Given the description of an element on the screen output the (x, y) to click on. 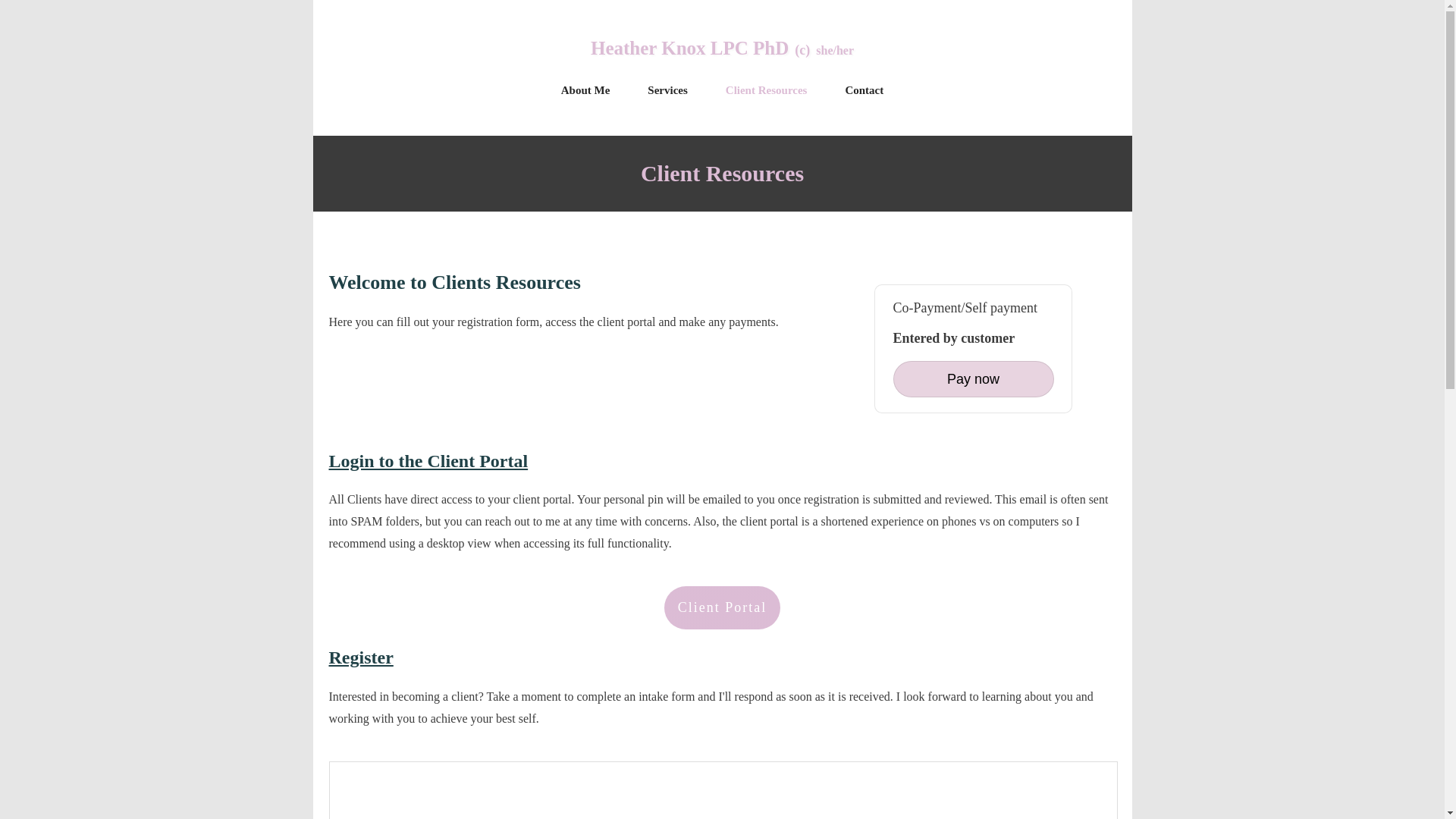
Login to the Client Portal (428, 460)
Pay now (973, 379)
Client Resources (766, 89)
About Me (585, 89)
Services (667, 89)
Contact (863, 89)
Register (361, 657)
Client Portal (721, 607)
